Given the description of an element on the screen output the (x, y) to click on. 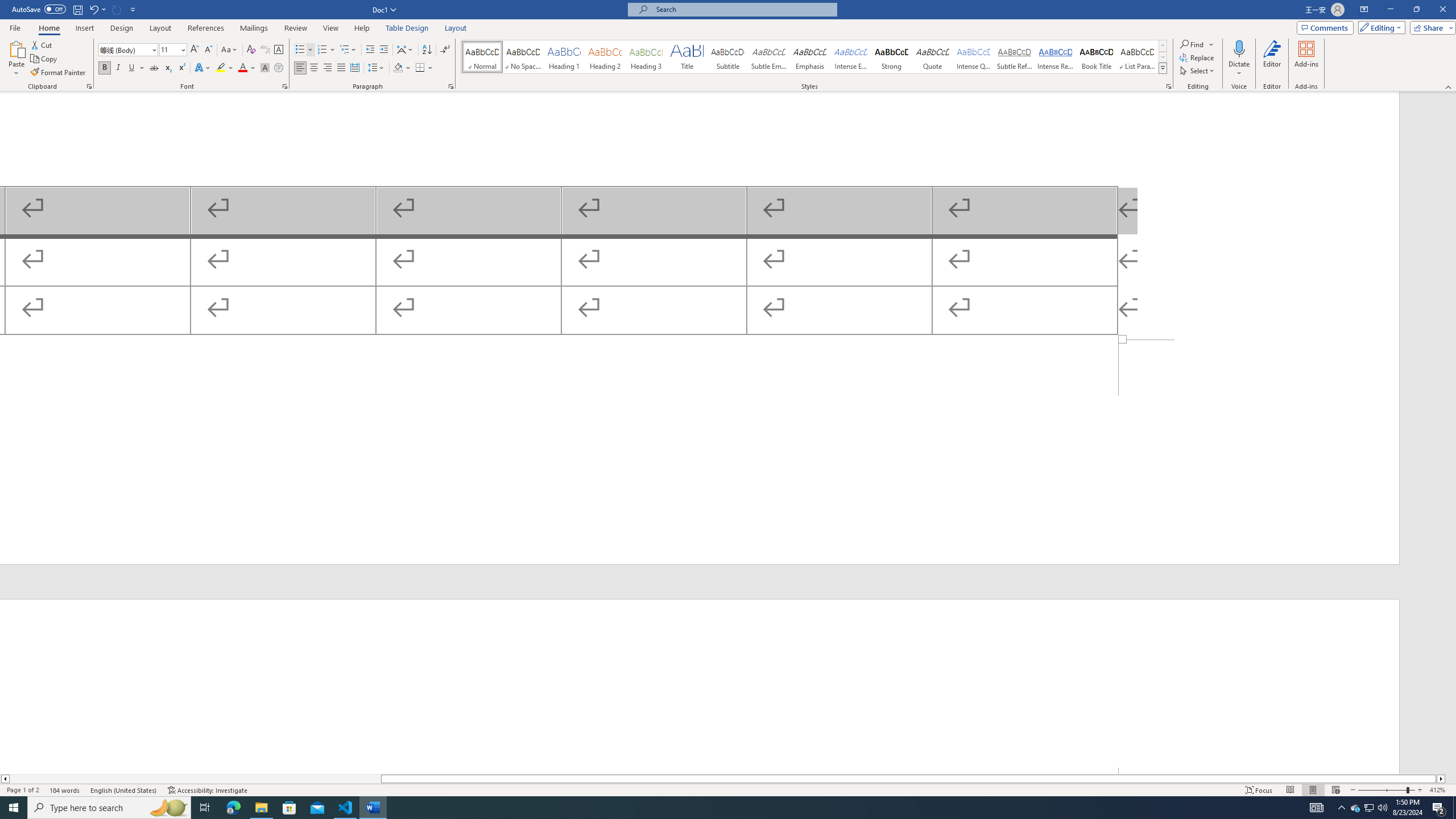
Book Title (1095, 56)
Subtle Emphasis (768, 56)
